Given the description of an element on the screen output the (x, y) to click on. 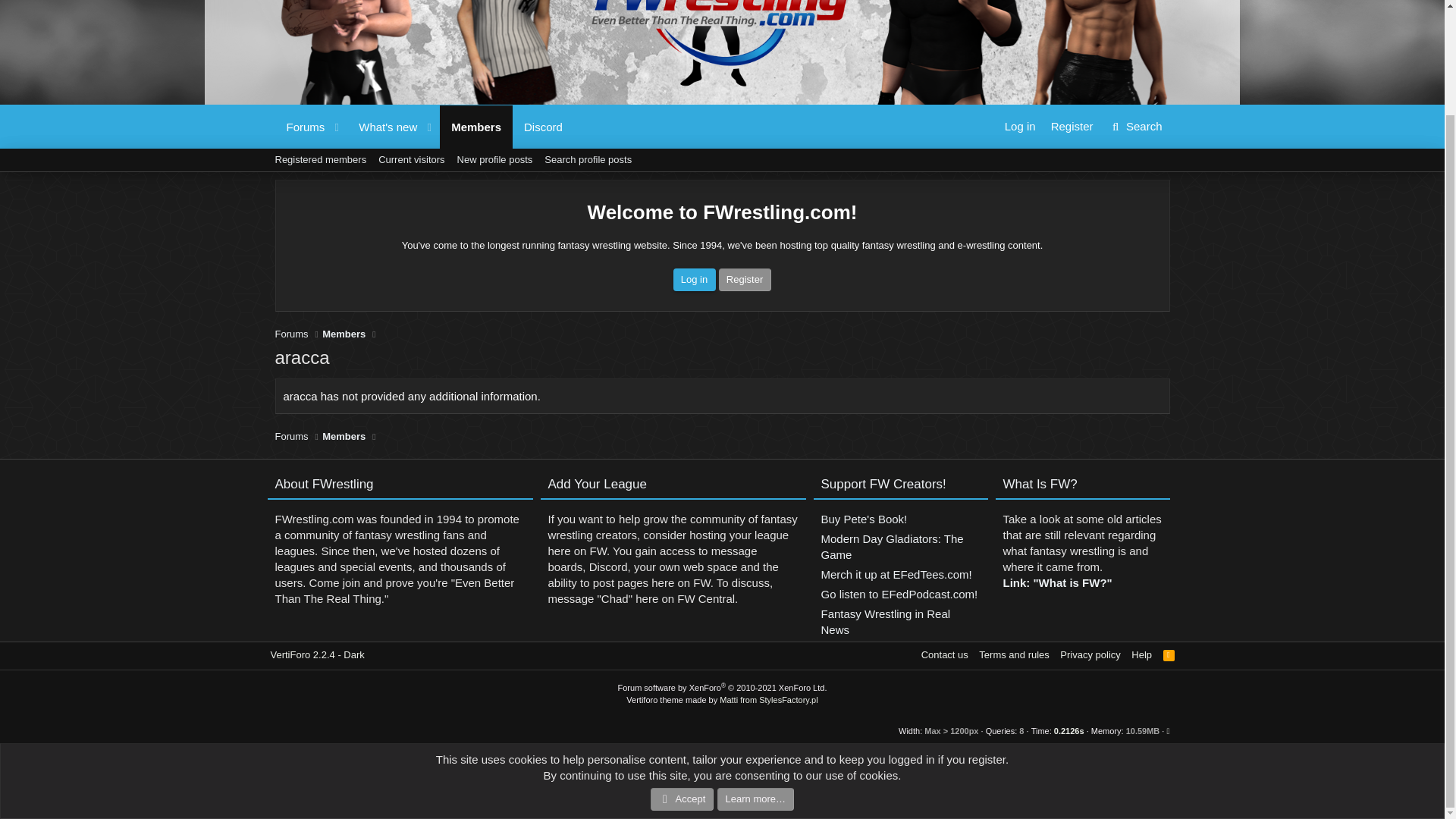
Search (1135, 126)
Responsive width (939, 730)
Discord (423, 143)
Search profile posts (542, 126)
Members (587, 159)
Log in (475, 126)
Forums (1020, 126)
Registered members (300, 126)
New profile posts (319, 159)
Modern Day Gladiators: The Game (494, 159)
Members (900, 548)
What's new (423, 126)
